Given the description of an element on the screen output the (x, y) to click on. 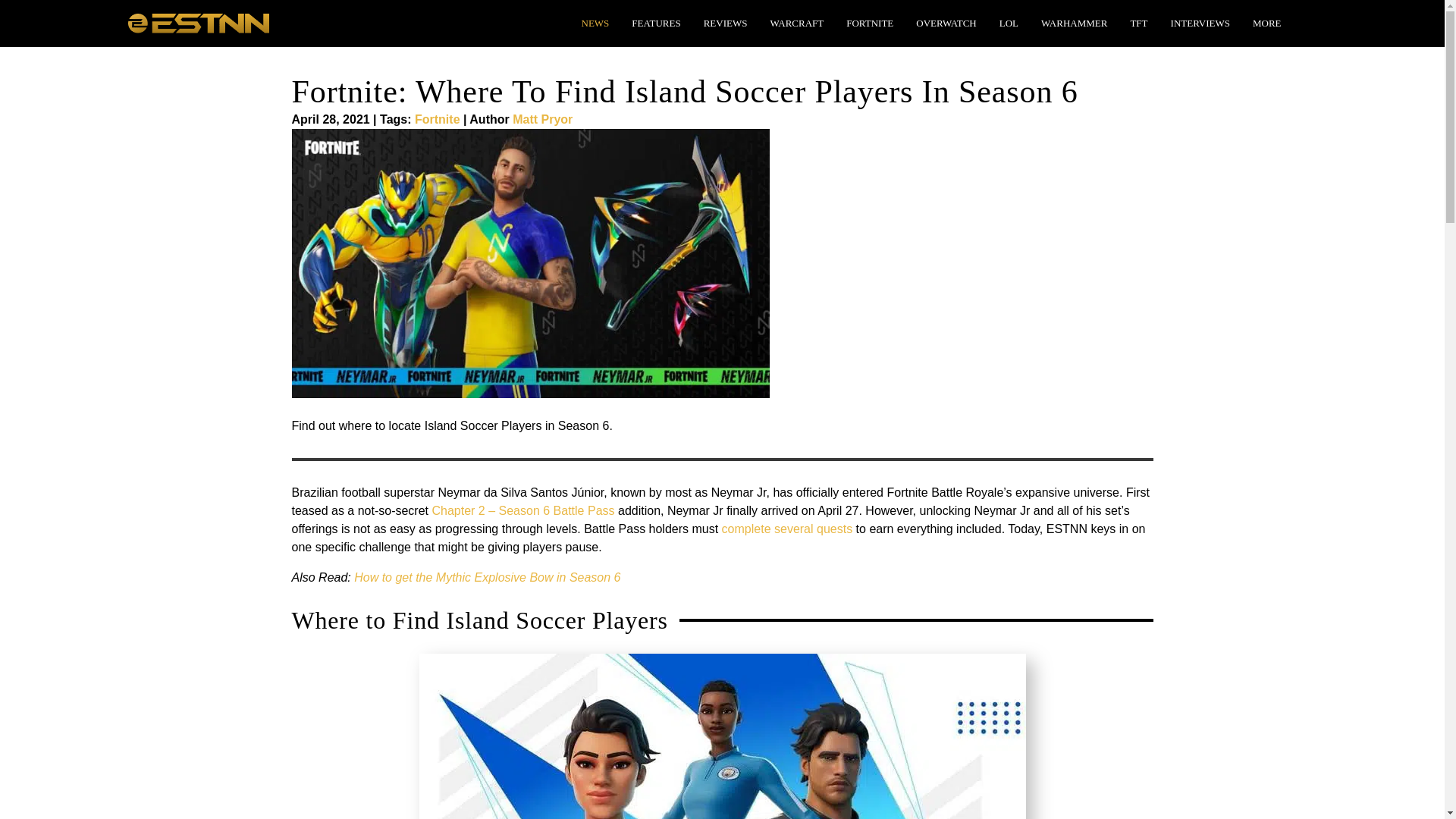
LOL (1008, 23)
How to get the Mythic Explosive Bow in Season 6 (486, 576)
Home (197, 21)
Posts by Matt Pryor (542, 119)
OVERWATCH (946, 23)
INTERVIEWS (1200, 23)
TFT (1138, 23)
WARCRAFT (796, 23)
FORTNITE (869, 23)
Fortnite (437, 119)
